Given the description of an element on the screen output the (x, y) to click on. 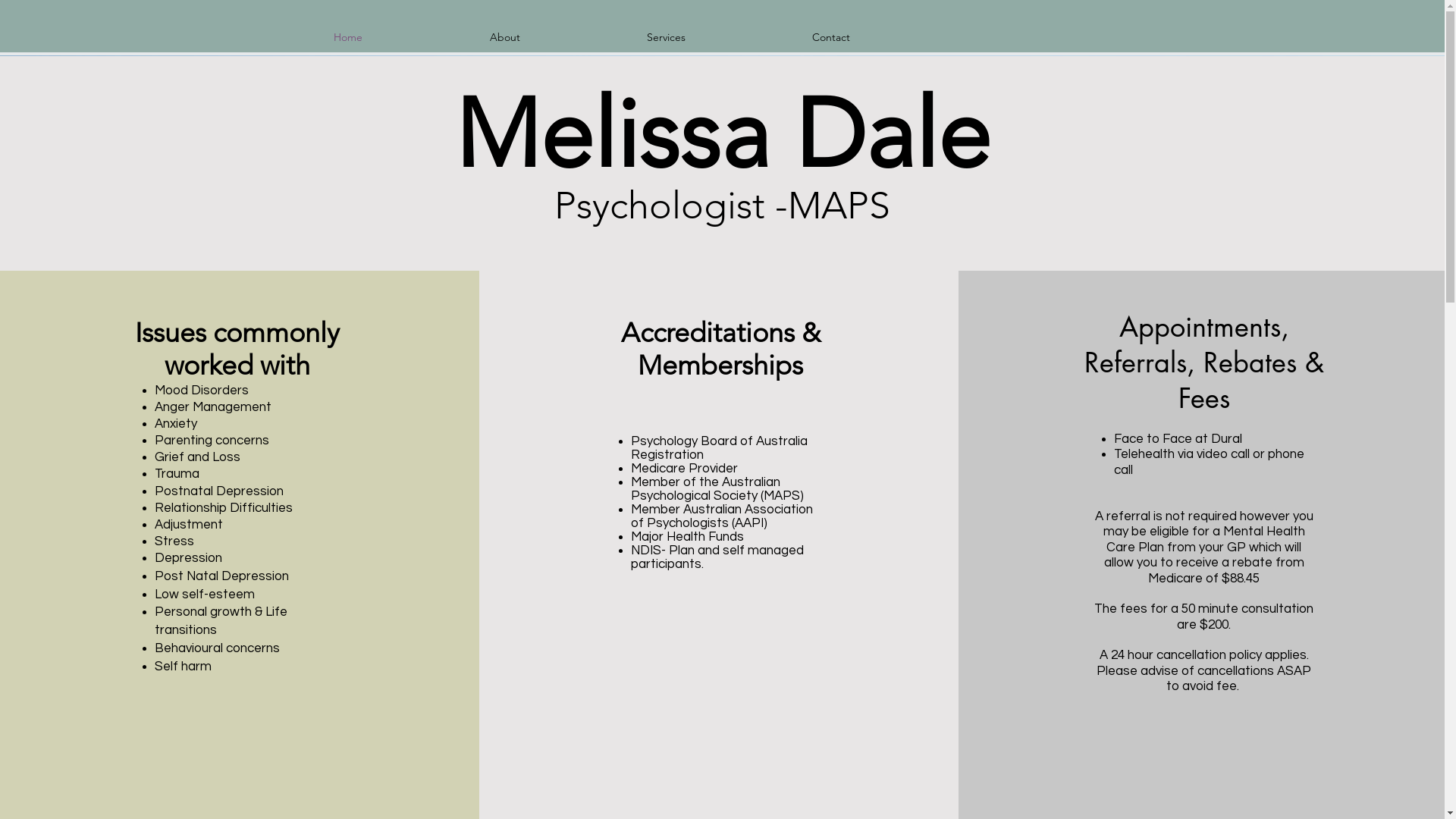
About Element type: text (504, 36)
Home Element type: text (347, 36)
Contact Element type: text (830, 36)
Services Element type: text (665, 36)
